Given the description of an element on the screen output the (x, y) to click on. 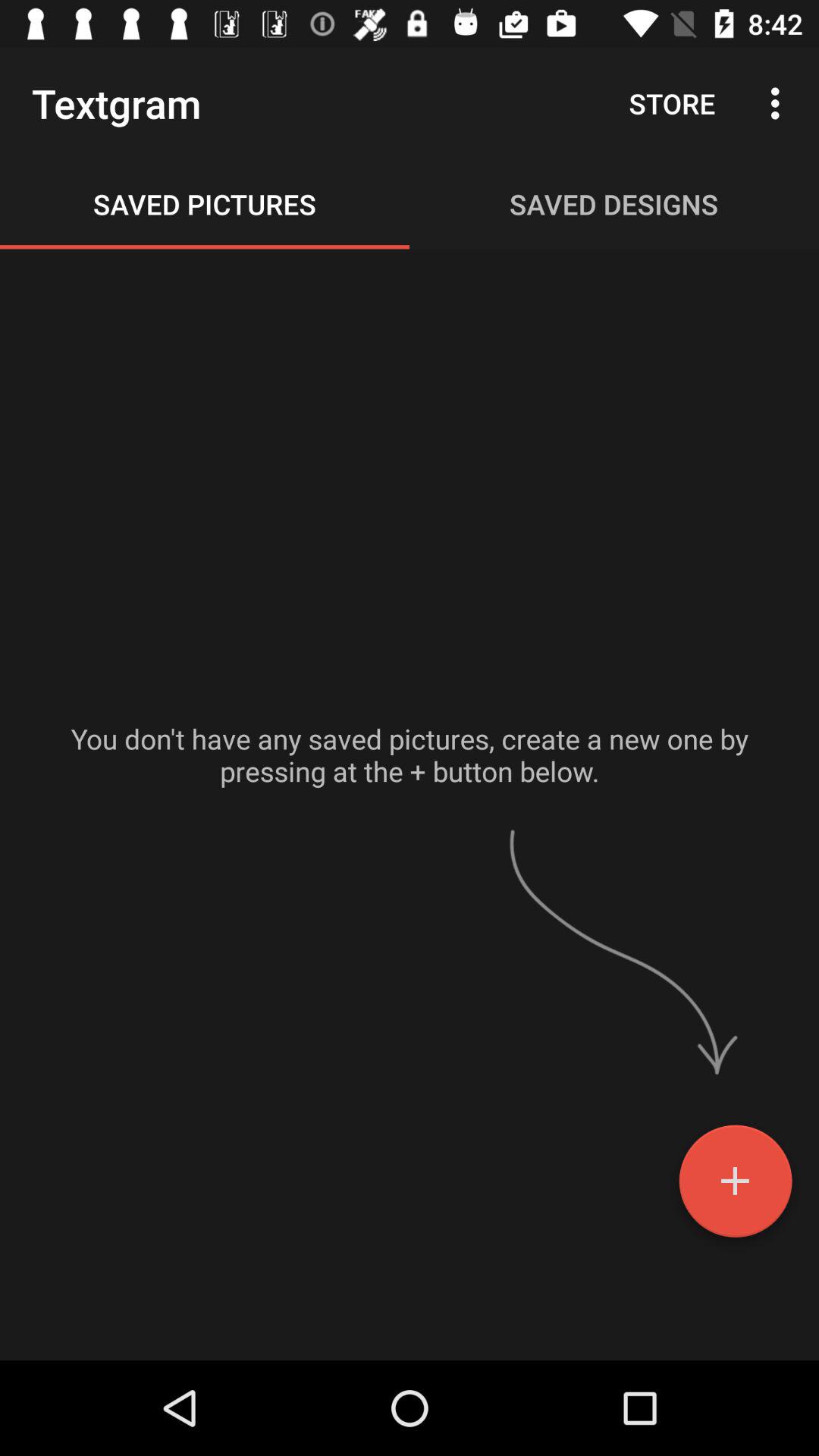
click icon to the right of store icon (779, 103)
